Given the description of an element on the screen output the (x, y) to click on. 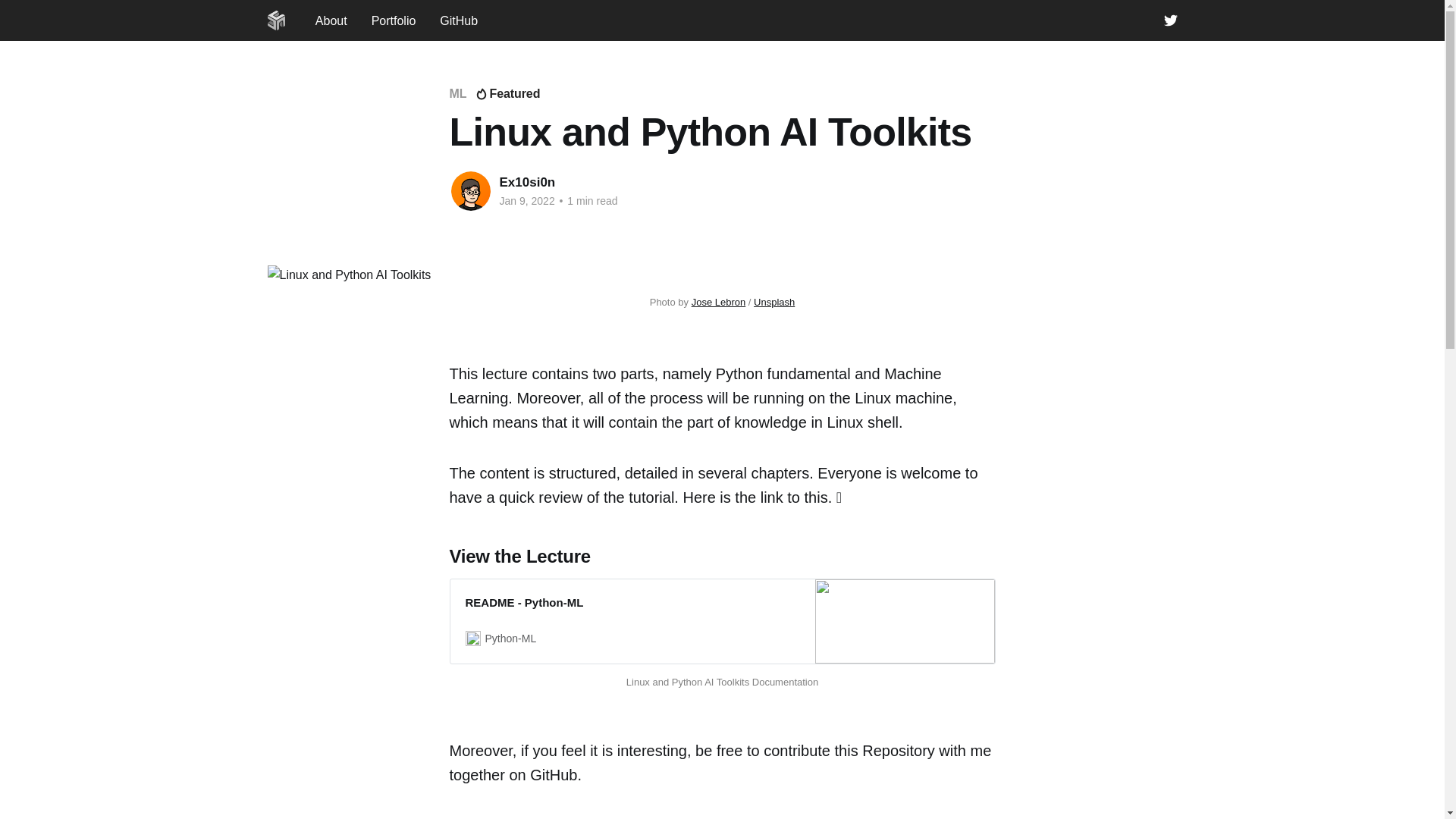
About Element type: text (331, 20)
Portfolio Element type: text (393, 20)
Jose Lebron Element type: text (718, 301)
GitHub Element type: text (458, 20)
Twitter Element type: hover (1169, 20)
README - Python-ML
Python-ML Element type: text (721, 621)
Unsplash Element type: text (773, 301)
ML Element type: text (457, 93)
Ex10si0n Element type: text (526, 182)
